Given the description of an element on the screen output the (x, y) to click on. 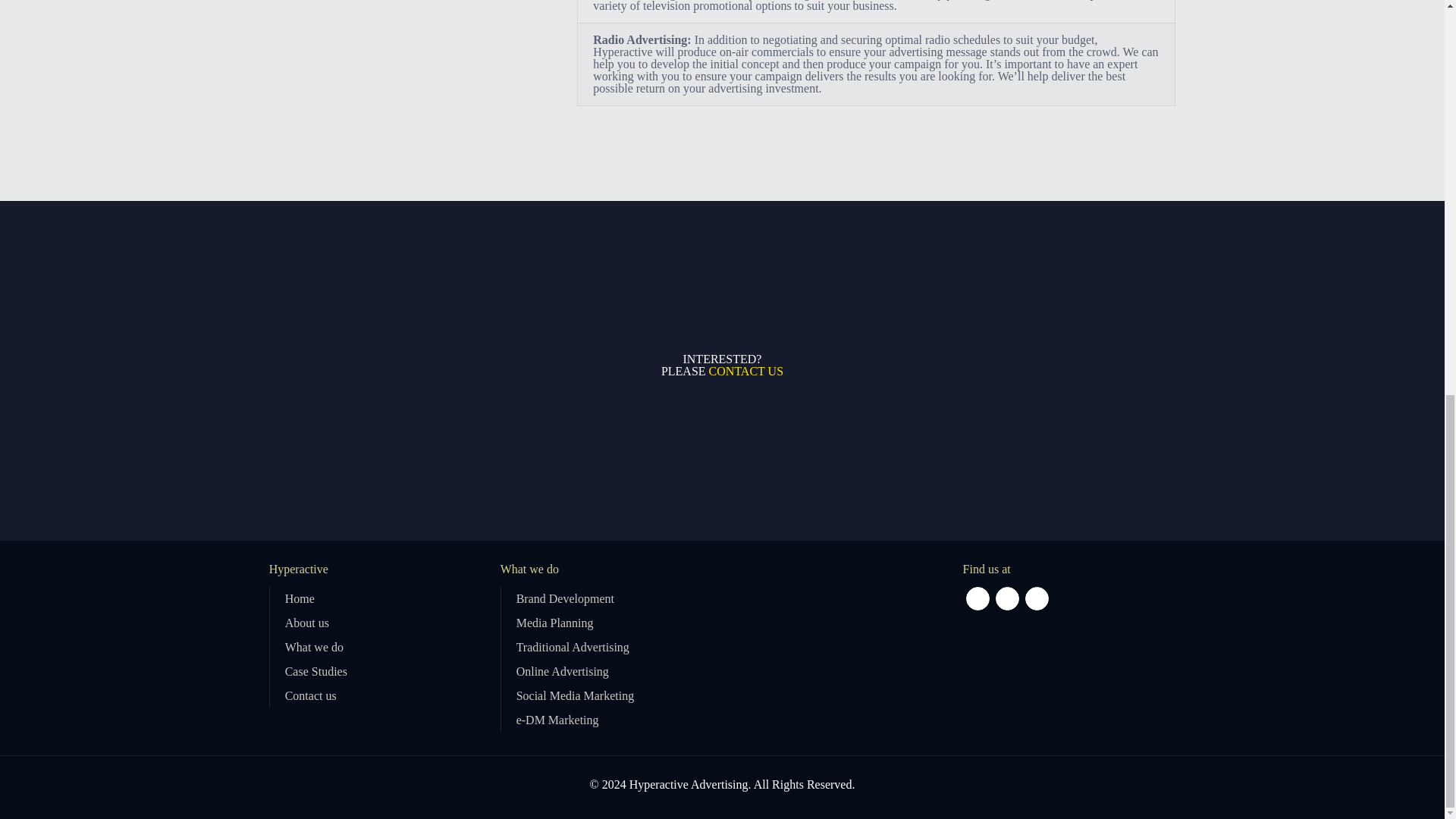
Media Planning (555, 622)
Brand Development (565, 598)
Online Advertising (562, 671)
e-DM Marketing (557, 719)
What we do (314, 646)
Traditional Advertising (572, 646)
Case Studies (316, 671)
About us (307, 622)
Social Media Marketing (575, 695)
Home (299, 598)
